Given the description of an element on the screen output the (x, y) to click on. 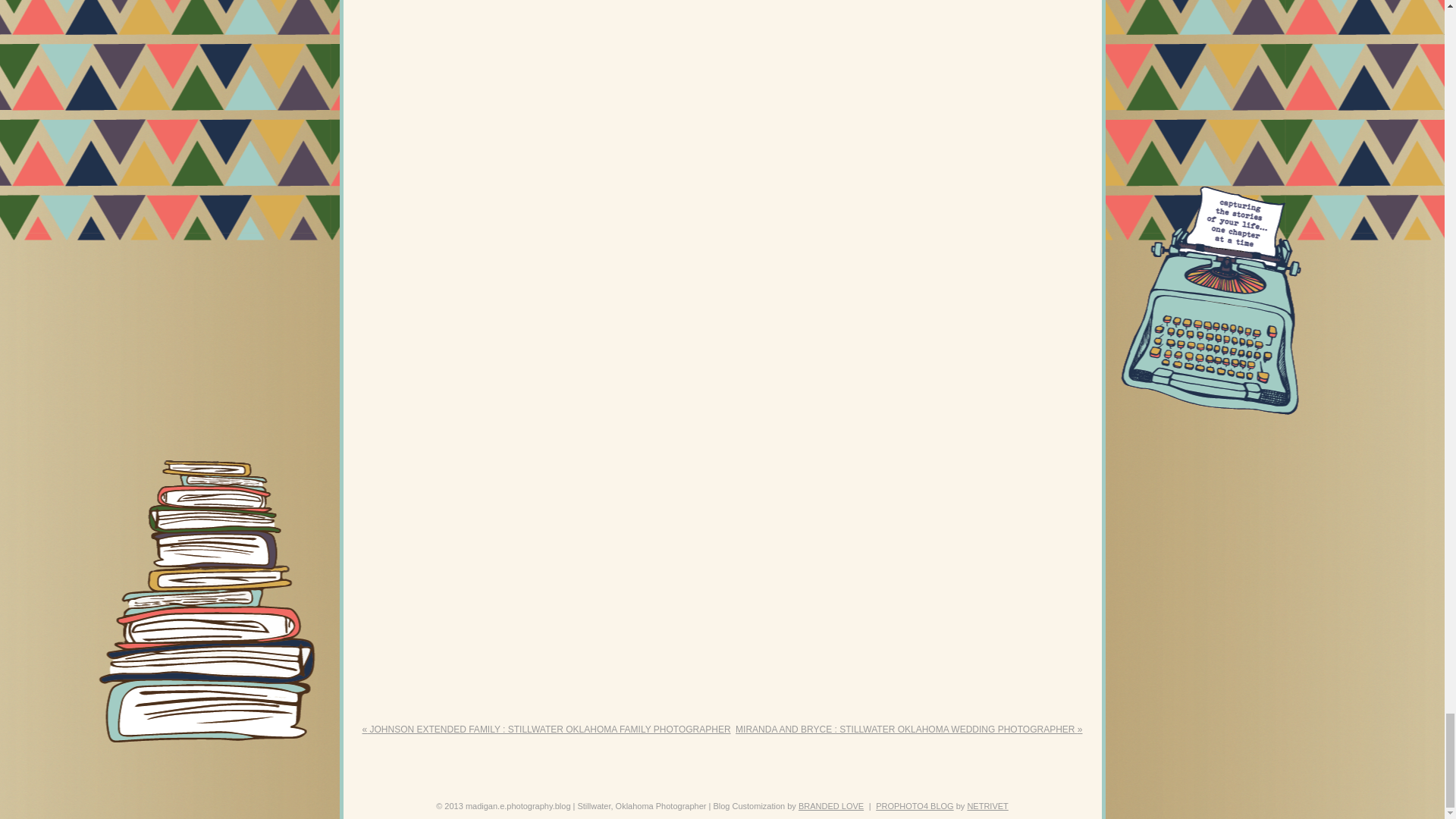
NetRivet, Inc. (986, 805)
ProPhoto Photo Theme (914, 805)
